Given the description of an element on the screen output the (x, y) to click on. 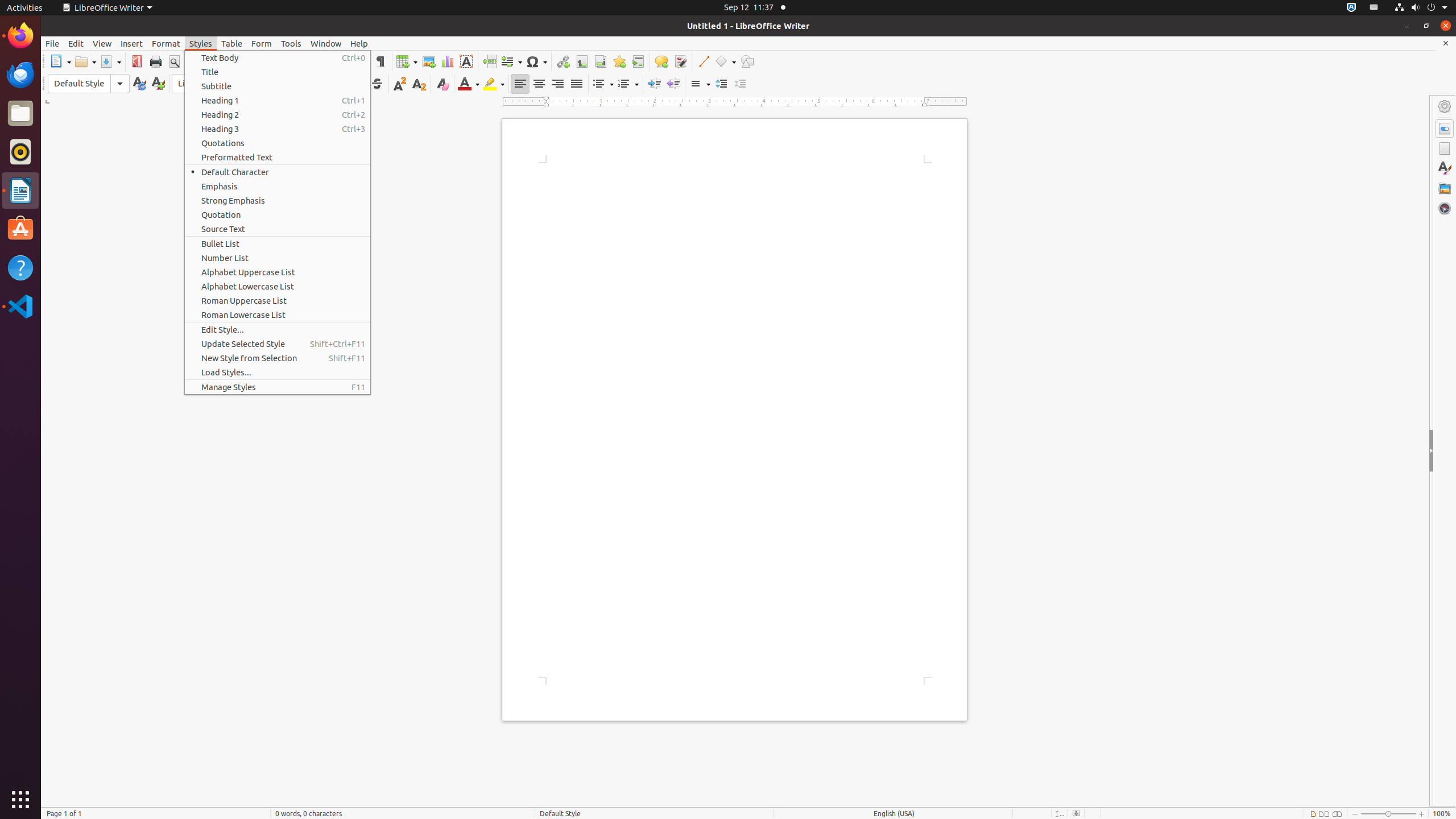
System Element type: menu (1420, 7)
Bookmark Element type: push-button (618, 61)
Hyperlink Element type: toggle-button (562, 61)
Decrease Element type: push-button (739, 83)
Print Preview Element type: toggle-button (173, 61)
